Given the description of an element on the screen output the (x, y) to click on. 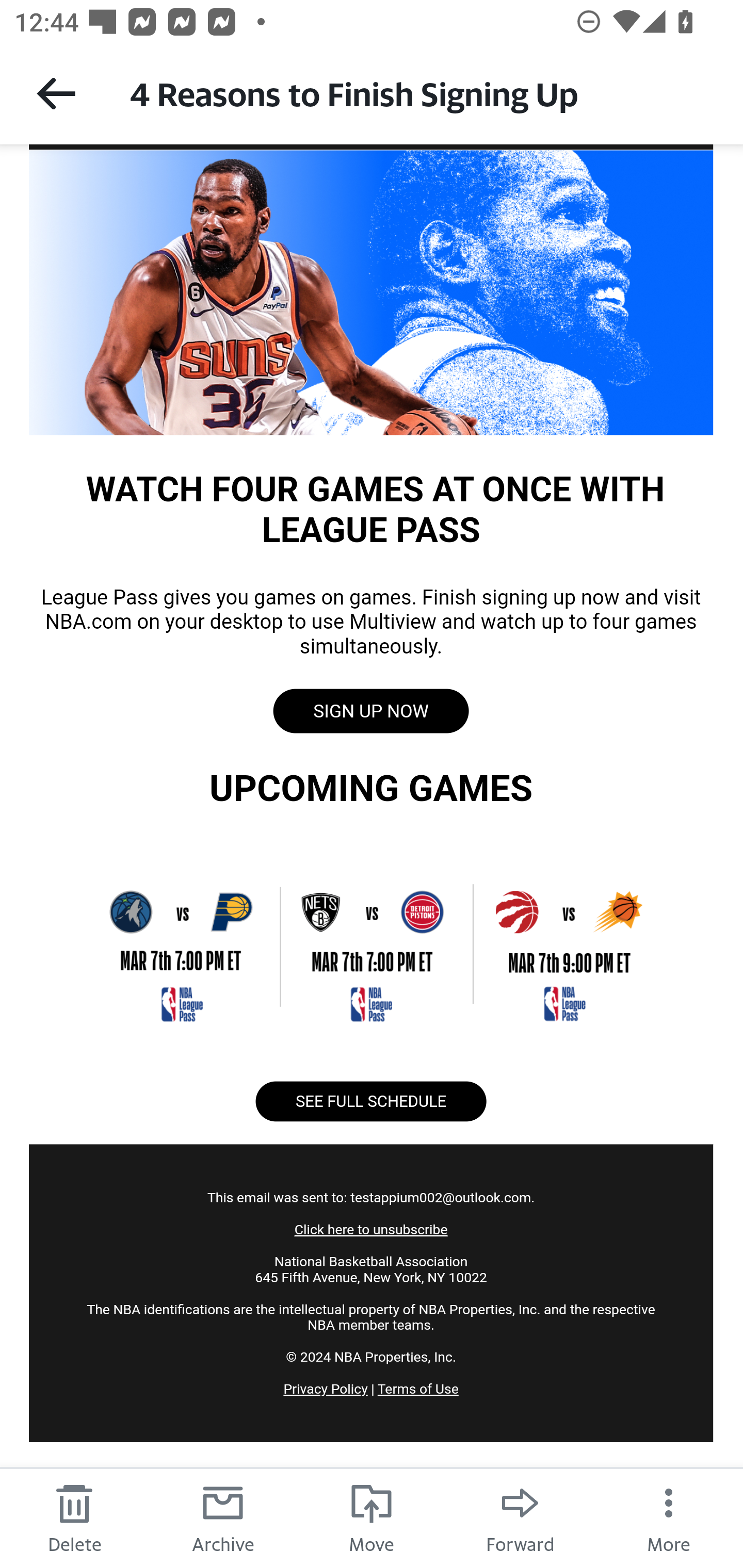
Back (55, 92)
WATCH FOUR GAMES AT ONCE WITH LEAGUE PASS (370, 291)
SIGN UP NOW (370, 710)
Game Schedule (370, 945)
SEE FULL SCHEDULE (370, 1100)
testappium002@outlook.com (440, 1196)
Click here to unsubscribe (370, 1229)
Privacy Policy (325, 1389)
Terms of Use (417, 1389)
Delete (74, 1517)
Archive (222, 1517)
Move (371, 1517)
Forward (519, 1517)
More (668, 1517)
